Given the description of an element on the screen output the (x, y) to click on. 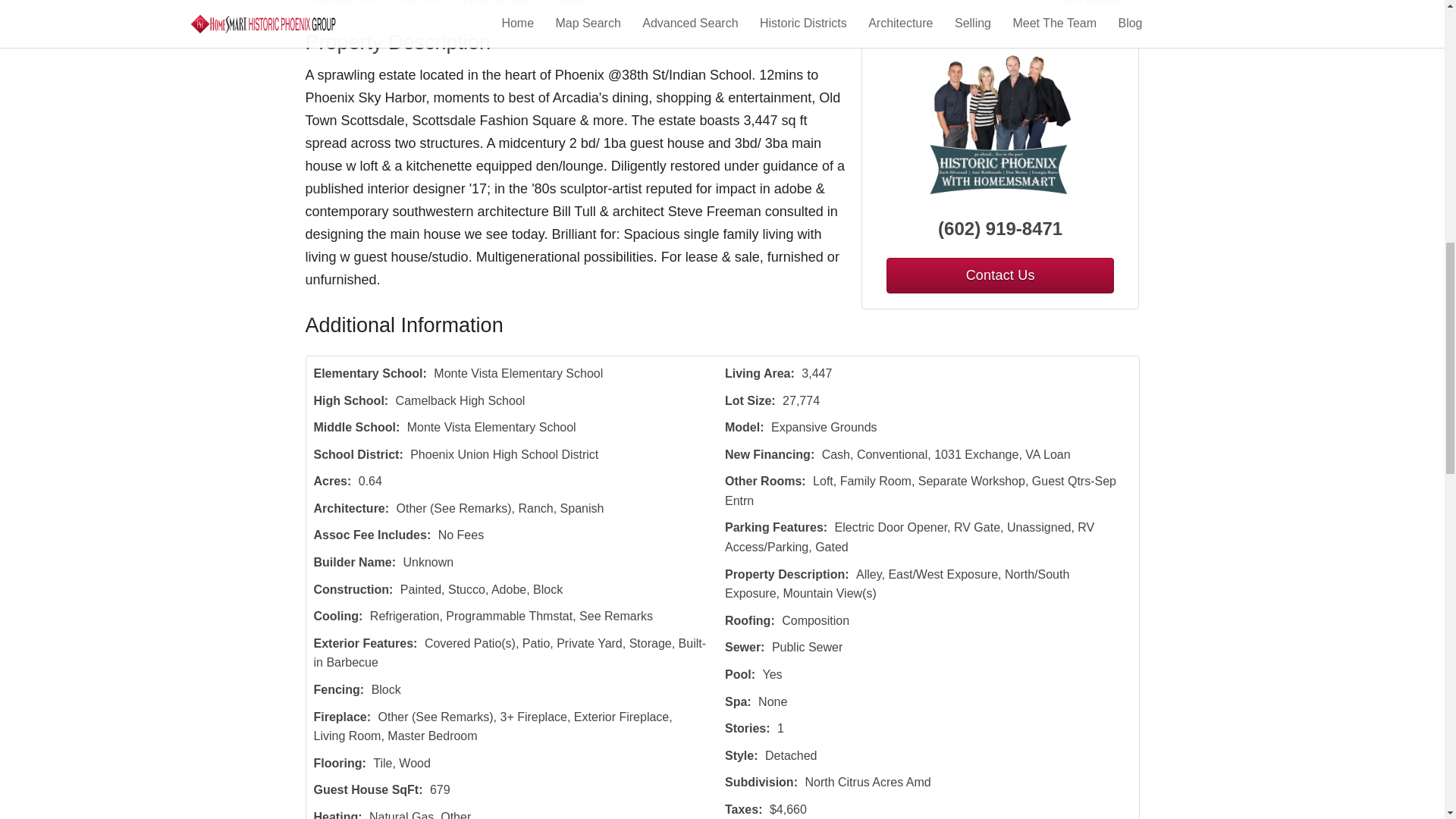
View on Map (507, 5)
Share (583, 5)
Contact Us (354, 5)
New Search (1094, 5)
Call Us (427, 5)
